Given the description of an element on the screen output the (x, y) to click on. 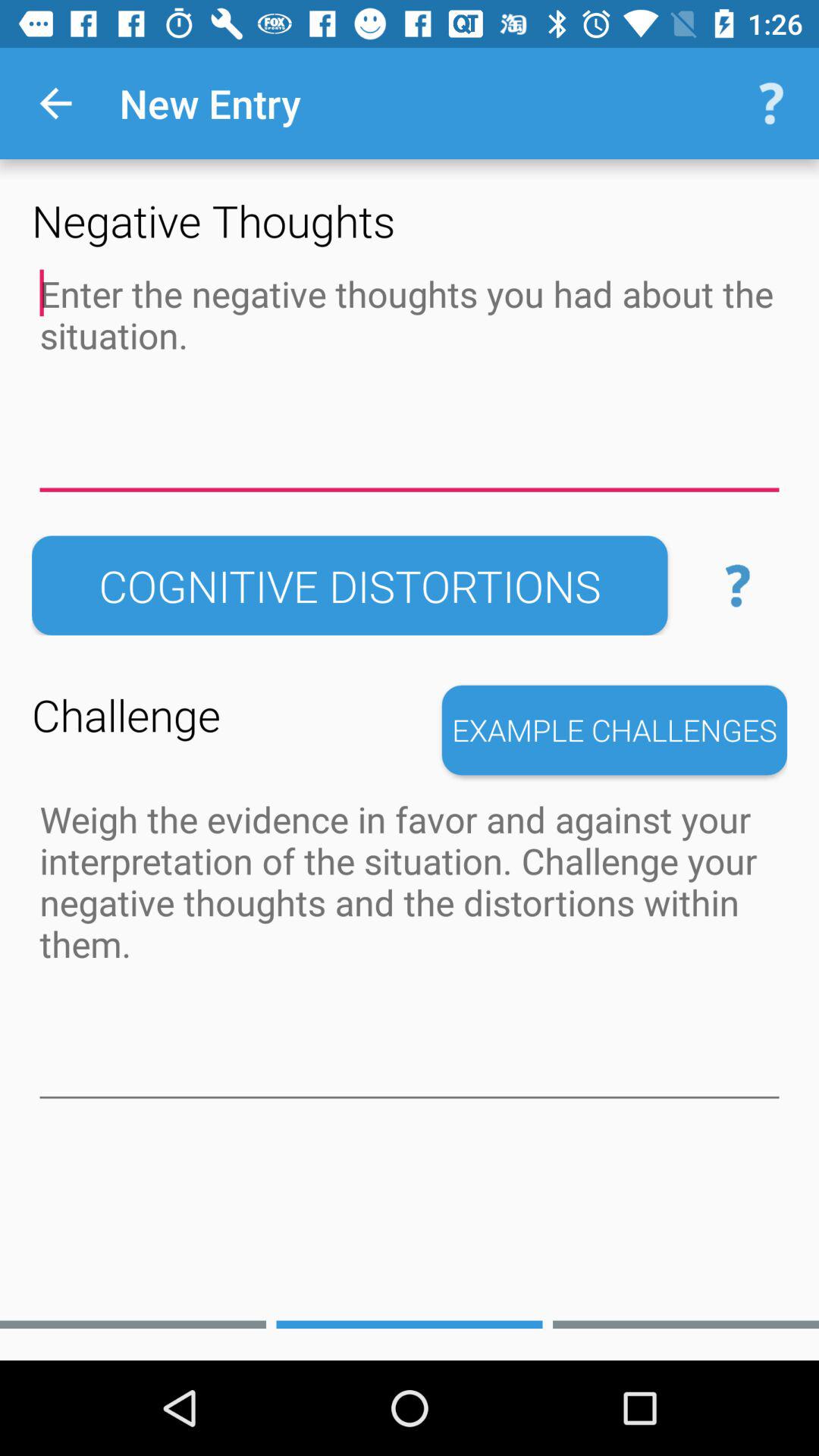
click the icon next to new entry (55, 103)
